Given the description of an element on the screen output the (x, y) to click on. 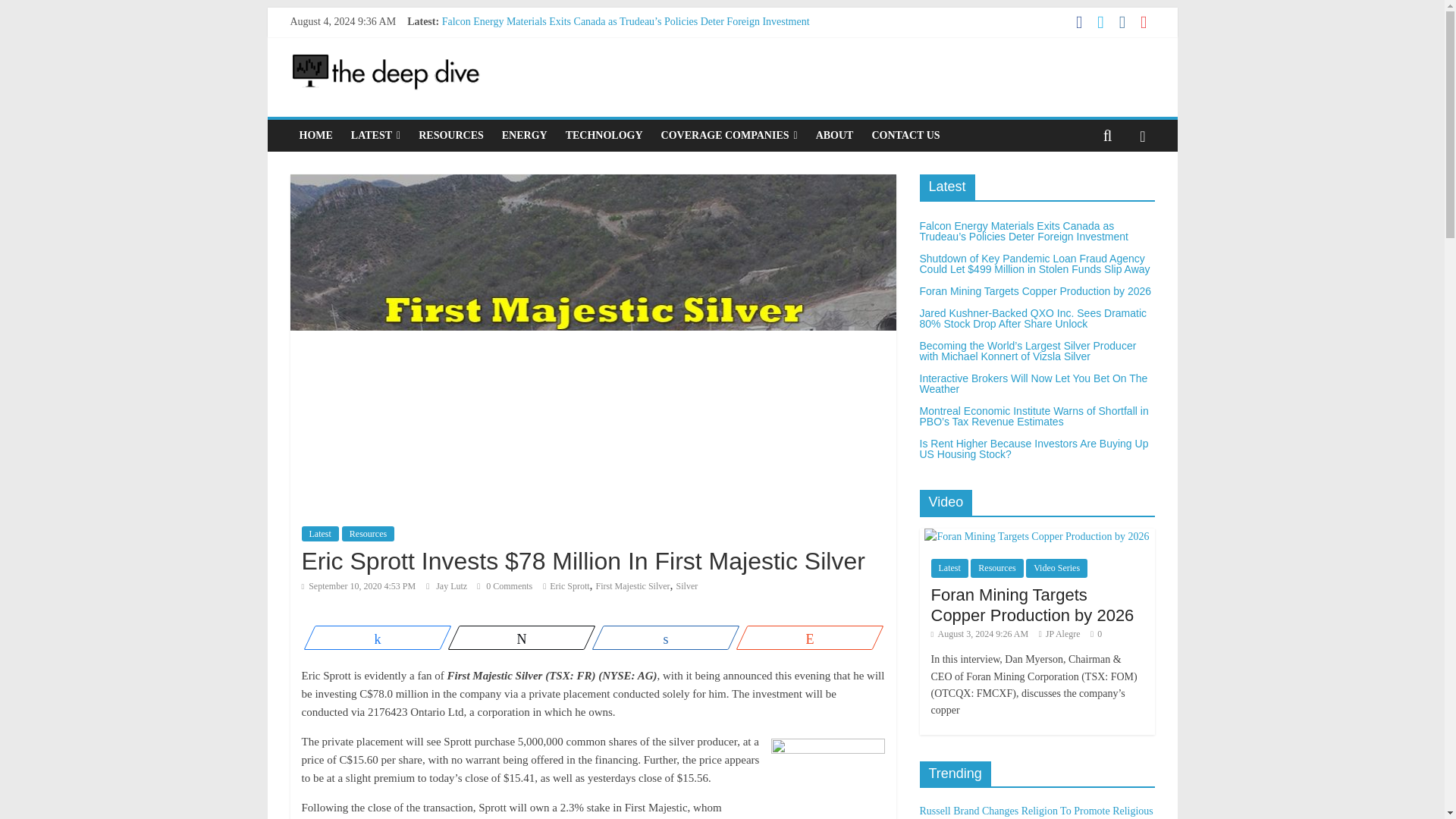
Foran Mining Targets Copper Production by 2026 (547, 55)
TECHNOLOGY (604, 135)
Foran Mining Targets Copper Production by 2026 (547, 55)
ENERGY (524, 135)
LATEST (375, 135)
4:53 pm (358, 585)
HOME (314, 135)
RESOURCES (451, 135)
Jay Lutz (451, 585)
COVERAGE COMPANIES (729, 135)
